Given the description of an element on the screen output the (x, y) to click on. 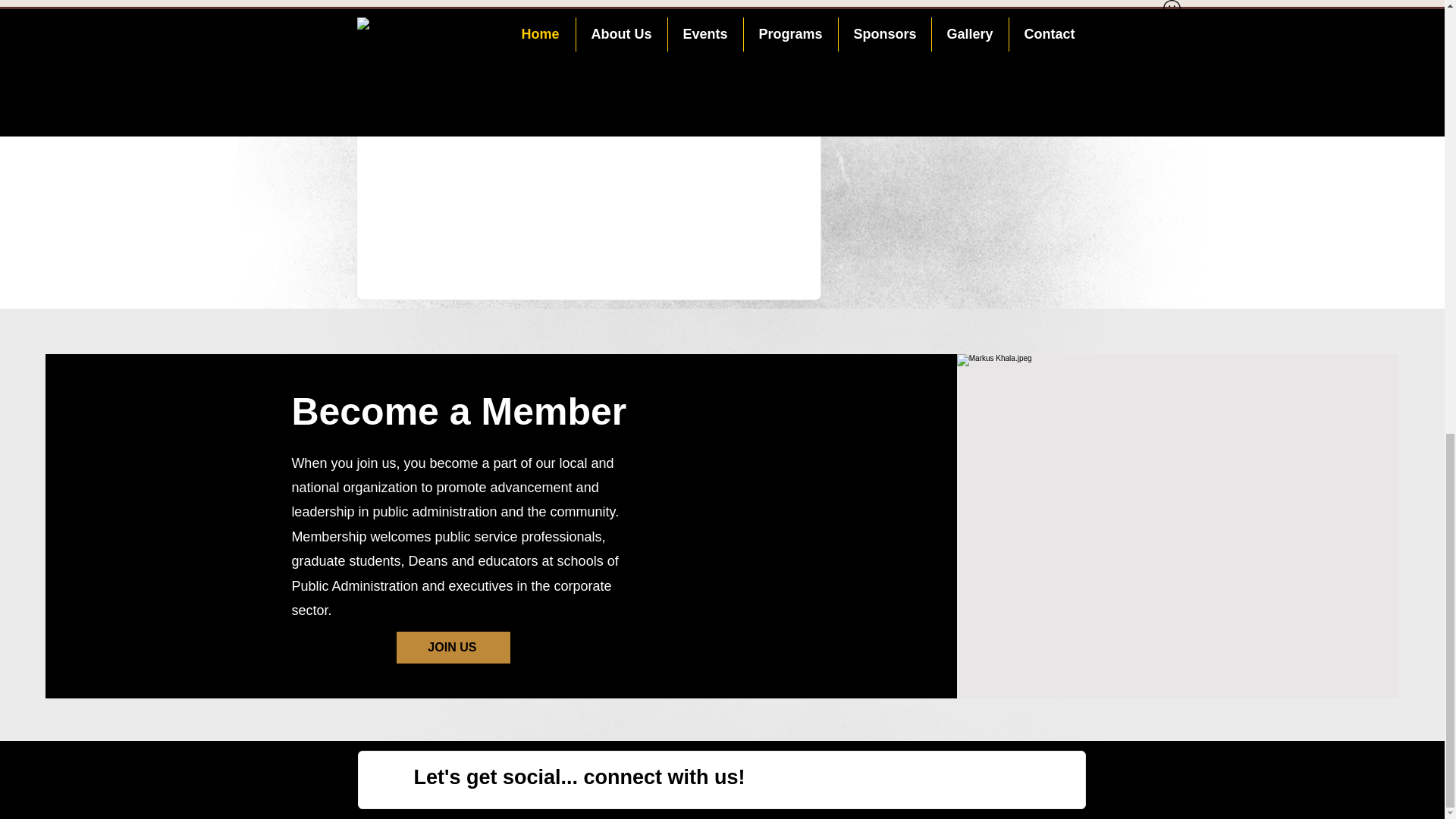
JOIN US (453, 647)
Learn More (465, 12)
